Given the description of an element on the screen output the (x, y) to click on. 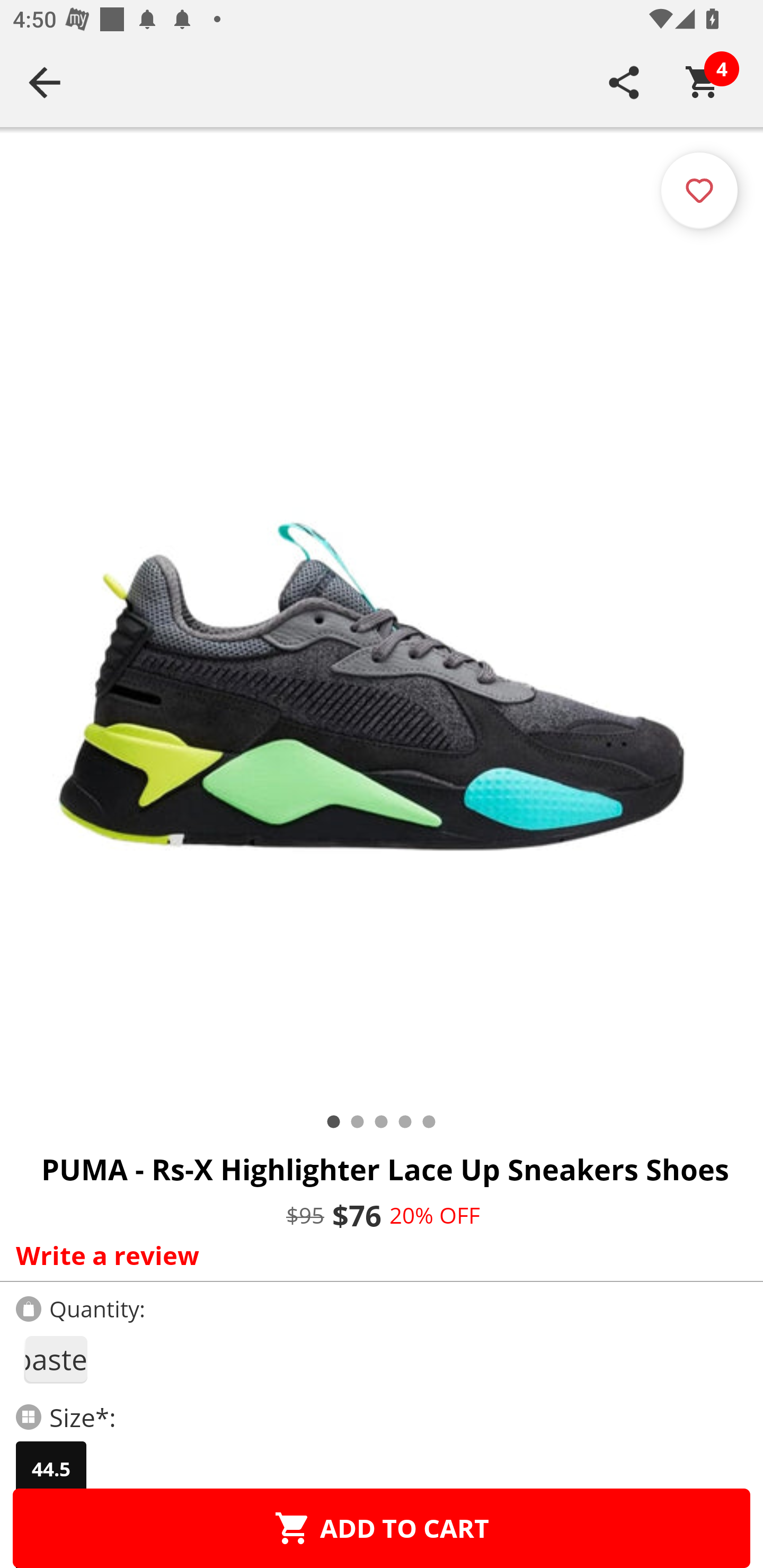
Navigate up (44, 82)
SHARE (623, 82)
Cart (703, 81)
Write a review (377, 1255)
1toothpaste (55, 1358)
44.5 (51, 1468)
ADD TO CART (381, 1528)
